Given the description of an element on the screen output the (x, y) to click on. 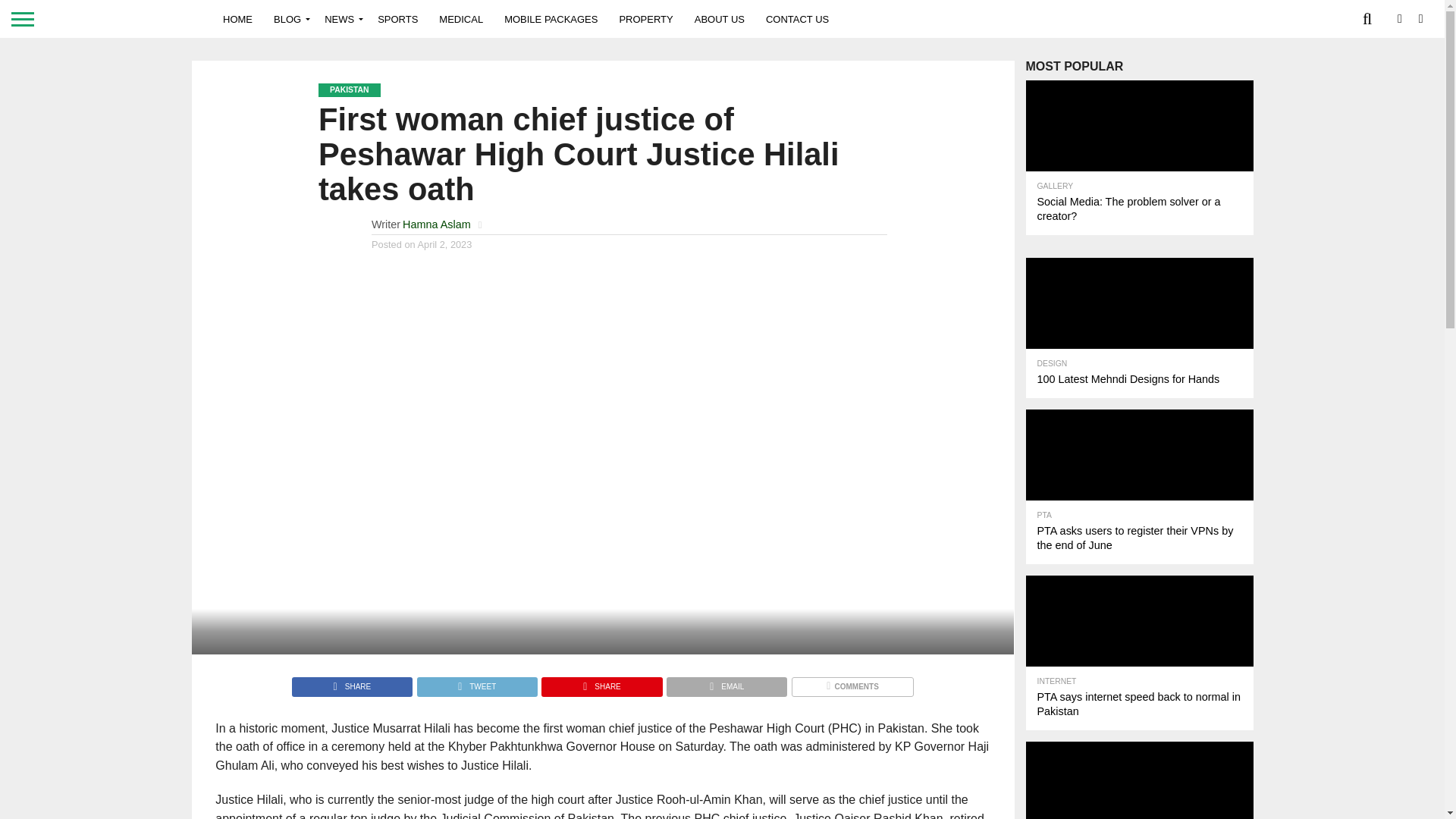
Tweet This Post (476, 682)
HOME (237, 18)
Share on Facebook (352, 682)
BLOG (288, 18)
Posts by Hamna Aslam (436, 224)
Pin This Post (601, 682)
